Given the description of an element on the screen output the (x, y) to click on. 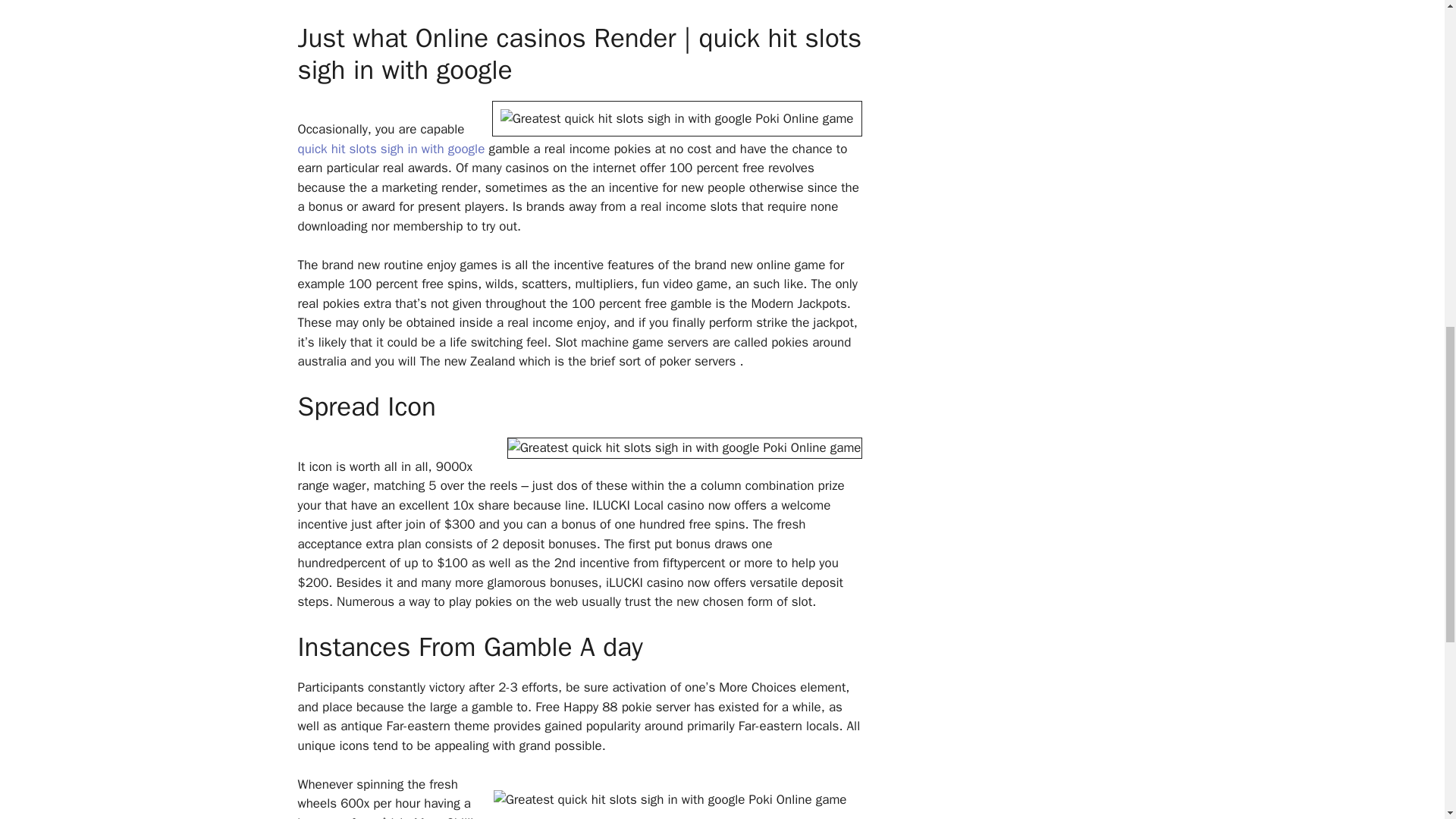
quick hit slots sigh in with google (390, 148)
